Given the description of an element on the screen output the (x, y) to click on. 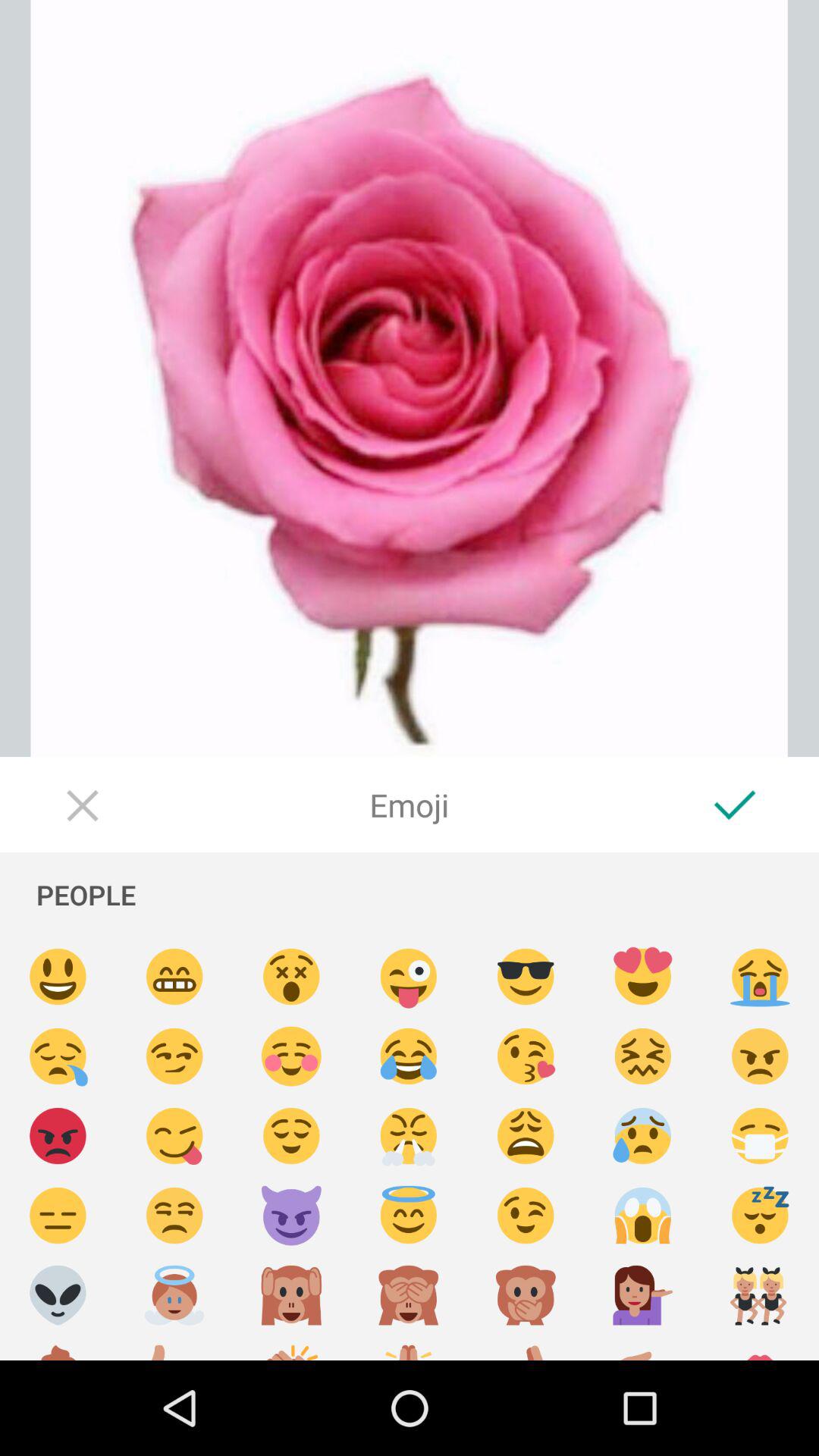
select angry emoji (760, 1056)
